Given the description of an element on the screen output the (x, y) to click on. 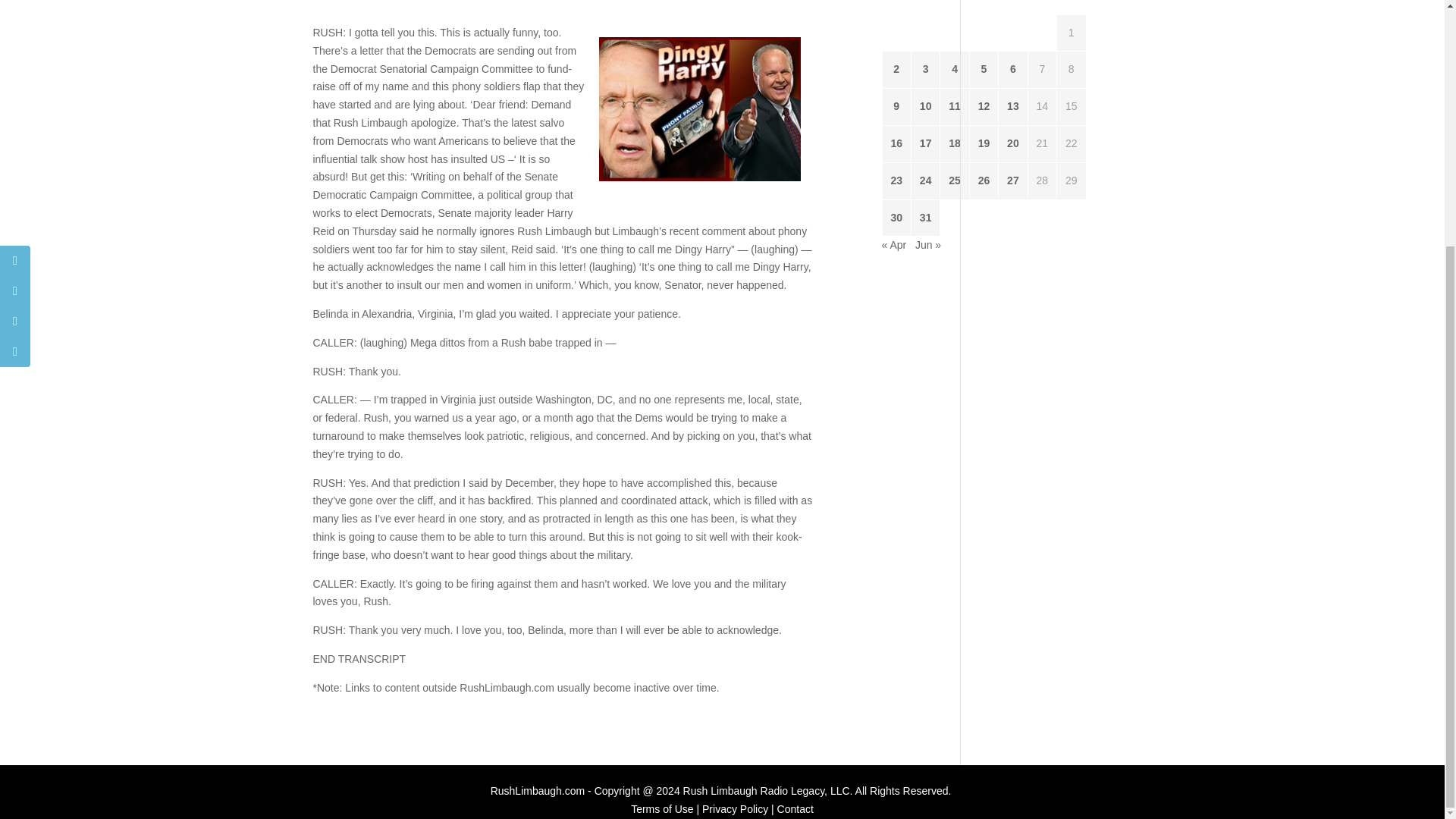
Sunday (1071, 7)
Friday (1012, 7)
Wednesday (954, 7)
Saturday (1042, 7)
Thursday (983, 7)
Tuesday (925, 7)
Monday (896, 7)
